Given the description of an element on the screen output the (x, y) to click on. 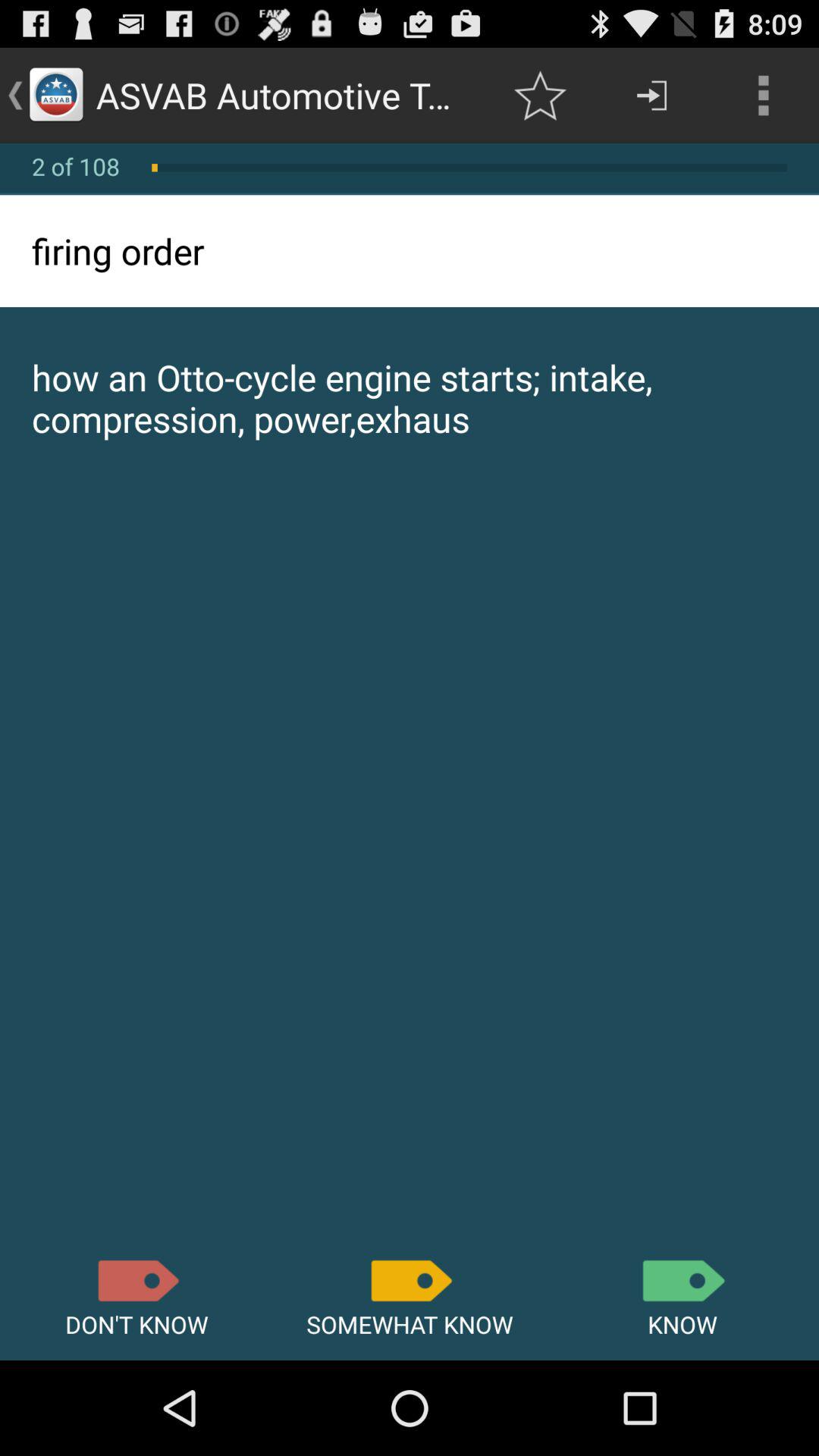
turn off the item next to asvab automotive terminologies item (540, 95)
